Given the description of an element on the screen output the (x, y) to click on. 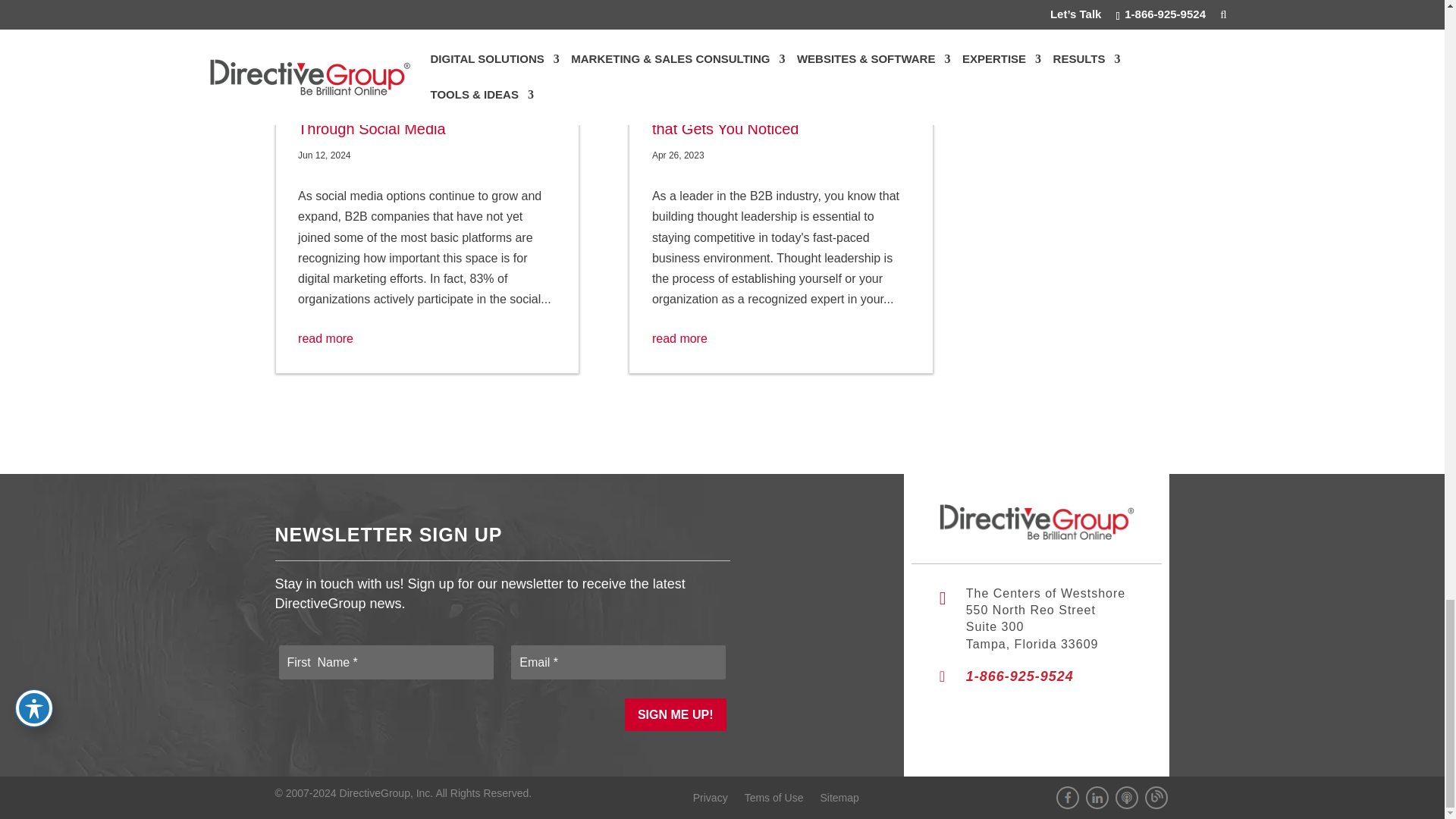
SIGN ME UP! (675, 714)
directivegroup-logo-tagline (1036, 521)
